Given the description of an element on the screen output the (x, y) to click on. 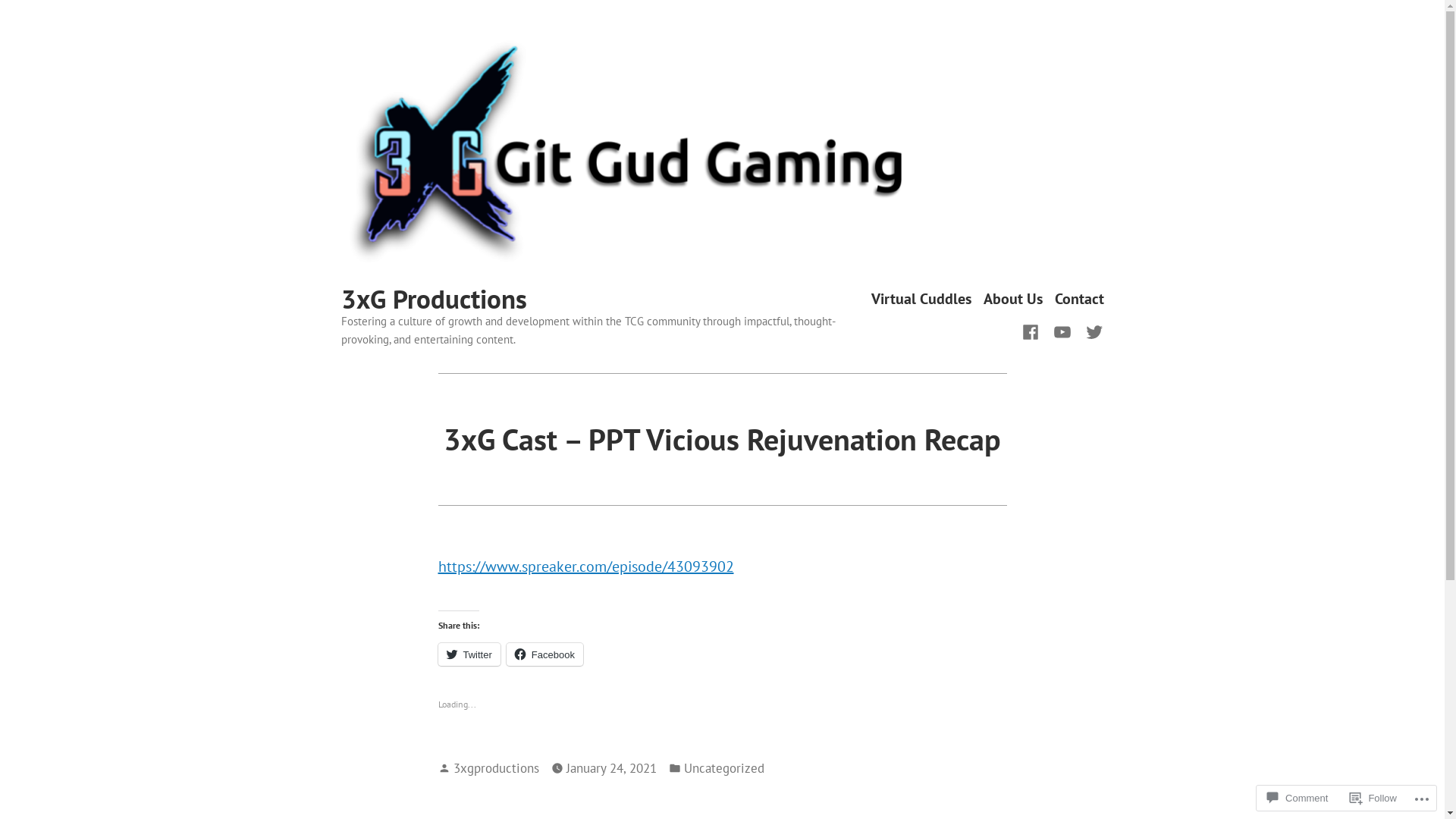
Follow Element type: text (1372, 797)
About Us Element type: text (1011, 298)
Comment Element type: text (1297, 797)
3xG Productions Element type: text (434, 298)
Virtual Cuddles Element type: text (920, 298)
January 24, 2021 Element type: text (610, 767)
Contact Element type: text (1078, 298)
Uncategorized Element type: text (724, 767)
https://www.spreaker.com/episode/43093902 Element type: text (586, 566)
Facebook Element type: text (544, 654)
3xgproductions Element type: text (496, 767)
Twitter Element type: text (469, 654)
